Given the description of an element on the screen output the (x, y) to click on. 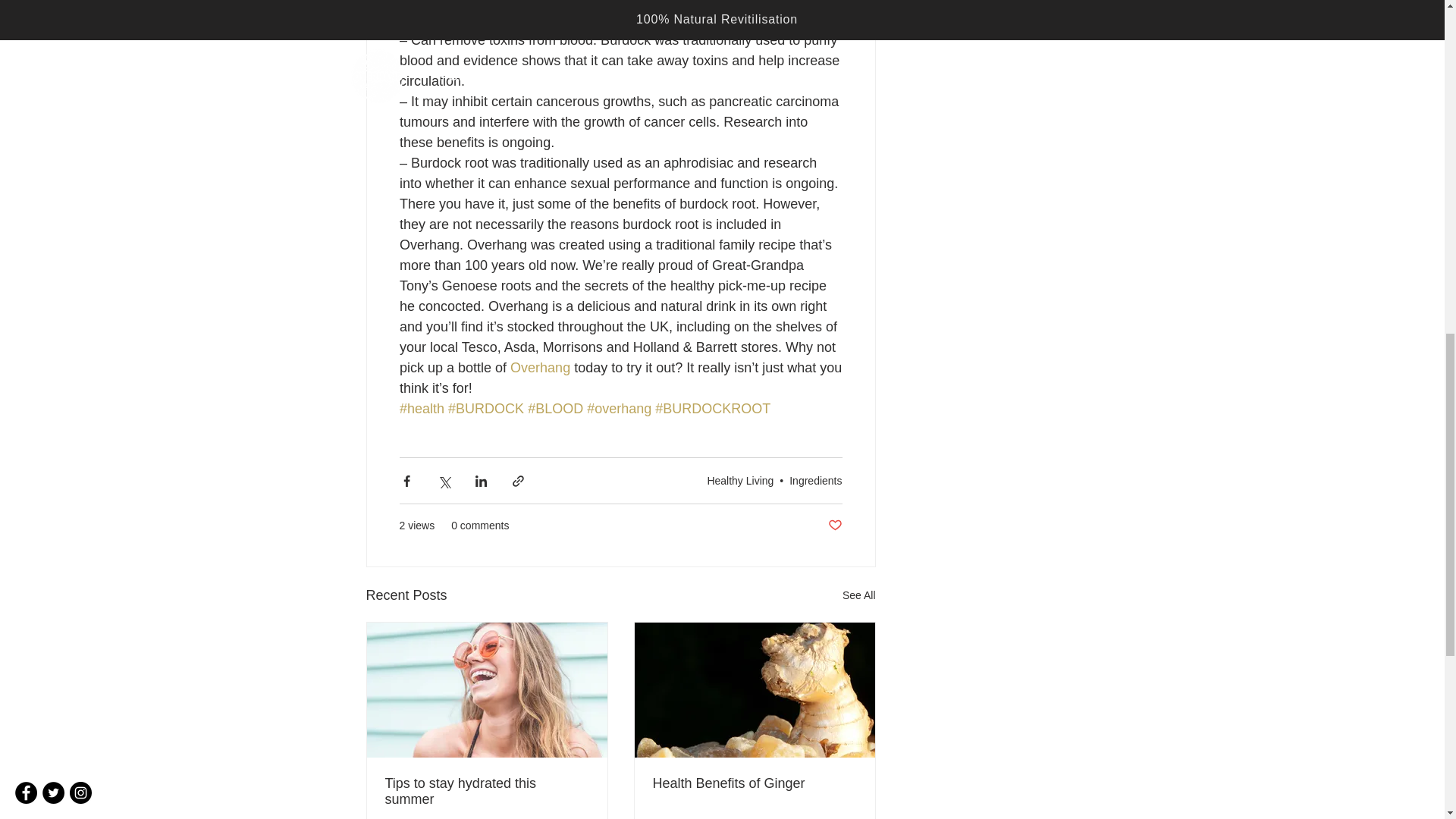
Tips to stay hydrated this summer (487, 791)
See All (859, 595)
Ingredients (815, 480)
Healthy Living (739, 480)
Overhang (540, 367)
Post not marked as liked (835, 525)
Health Benefits of Ginger (754, 783)
